Given the description of an element on the screen output the (x, y) to click on. 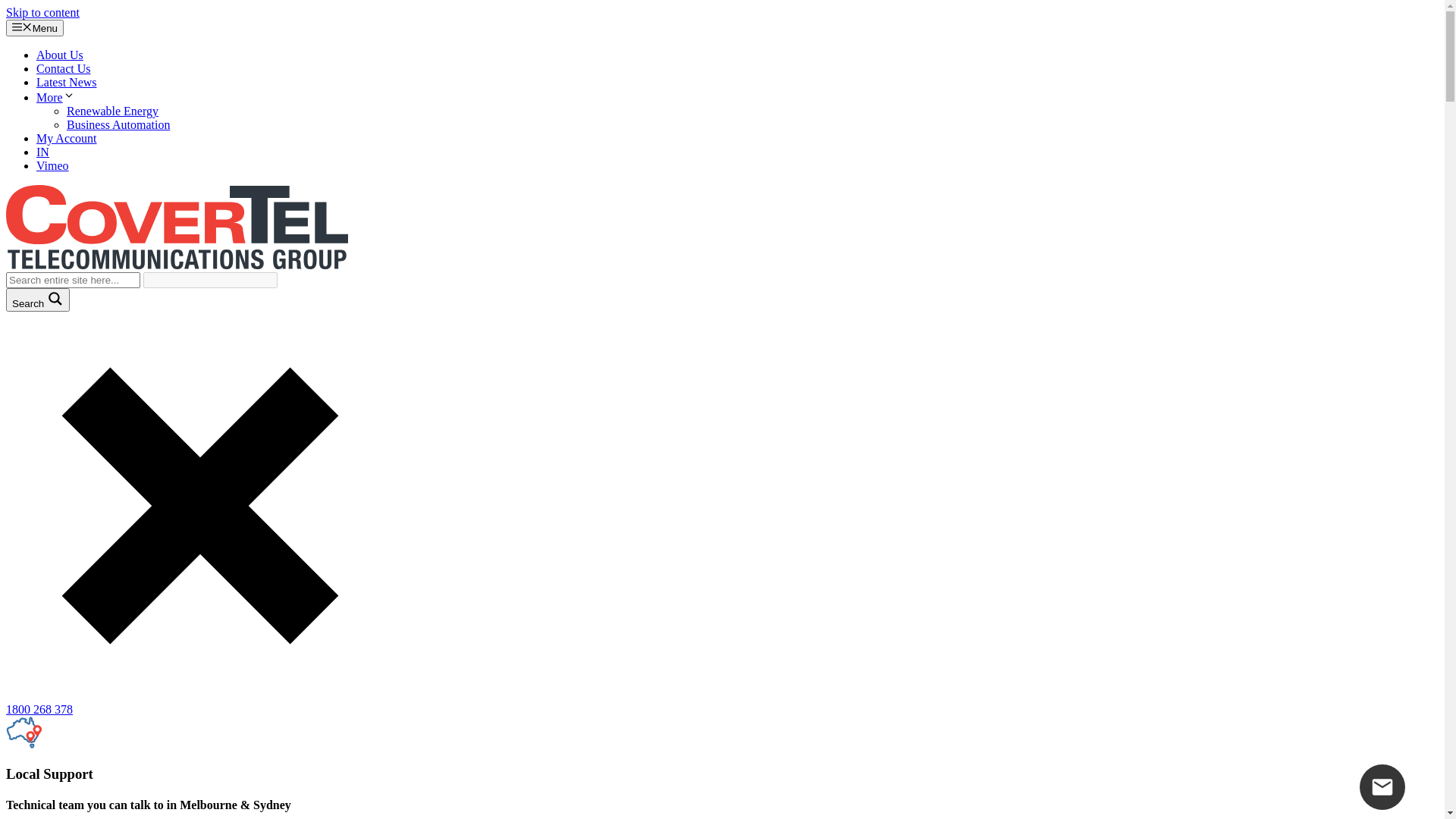
About Us Element type: text (59, 54)
Vimeo Element type: text (52, 165)
Search Element type: text (37, 299)
IN Element type: text (42, 151)
1800 268 378 Element type: text (39, 708)
Latest News Element type: text (66, 81)
Menu Element type: text (34, 27)
Leave a message Element type: hover (1382, 786)
Skip to content Element type: text (42, 12)
Business Automation Element type: text (117, 124)
Contact Us Element type: text (63, 68)
My Account Element type: text (66, 137)
Renewable Energy Element type: text (112, 110)
More Element type: text (55, 97)
